Given the description of an element on the screen output the (x, y) to click on. 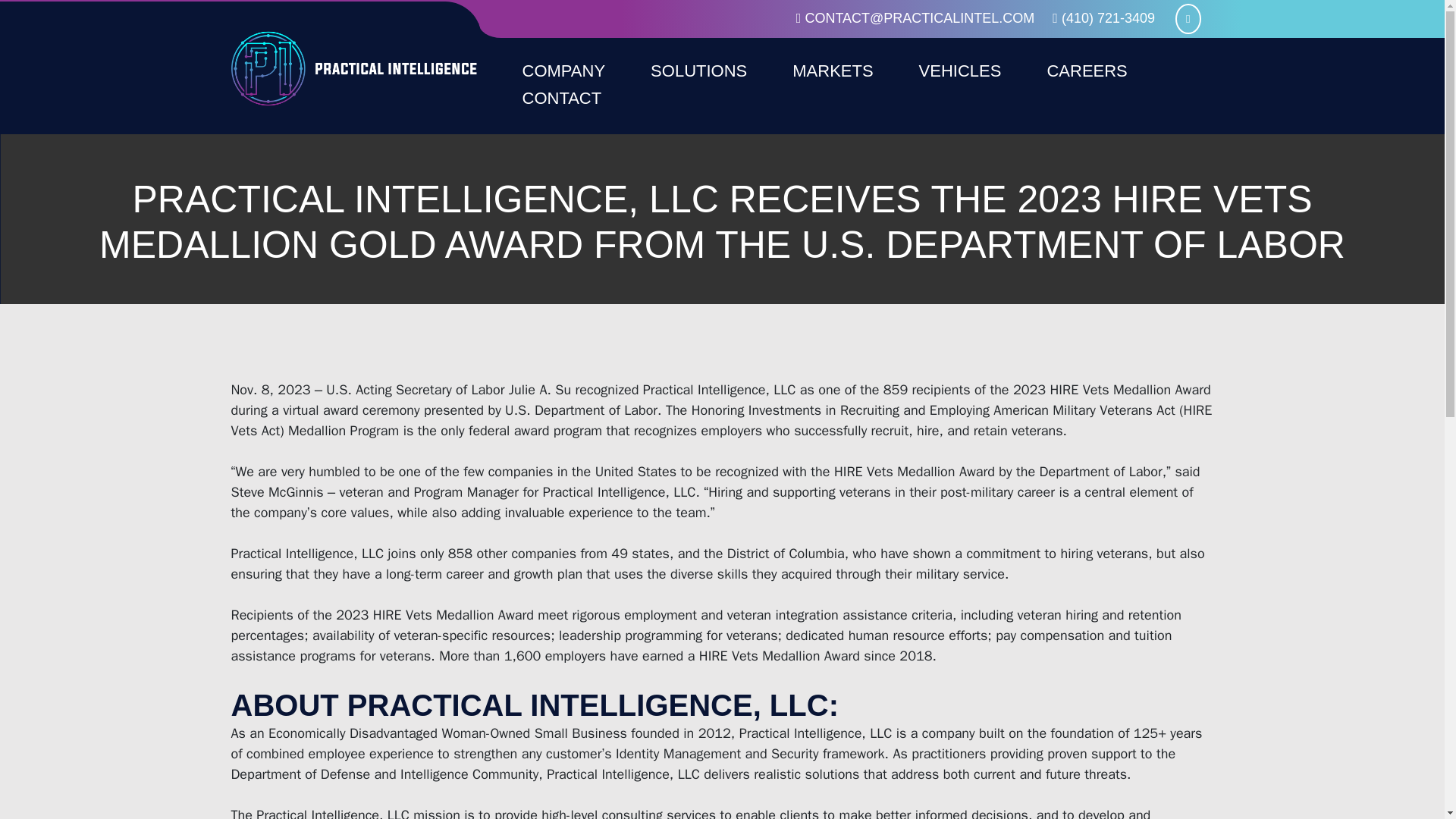
CAREERS (1086, 71)
COMPANY (563, 71)
ABOUT PRACTICAL INTELLIGENCE, LLC: (534, 705)
MARKETS (832, 71)
Company (563, 71)
Solutions (698, 71)
SOLUTIONS (698, 71)
CONTACT (561, 98)
VEHICLES (959, 71)
